Given the description of an element on the screen output the (x, y) to click on. 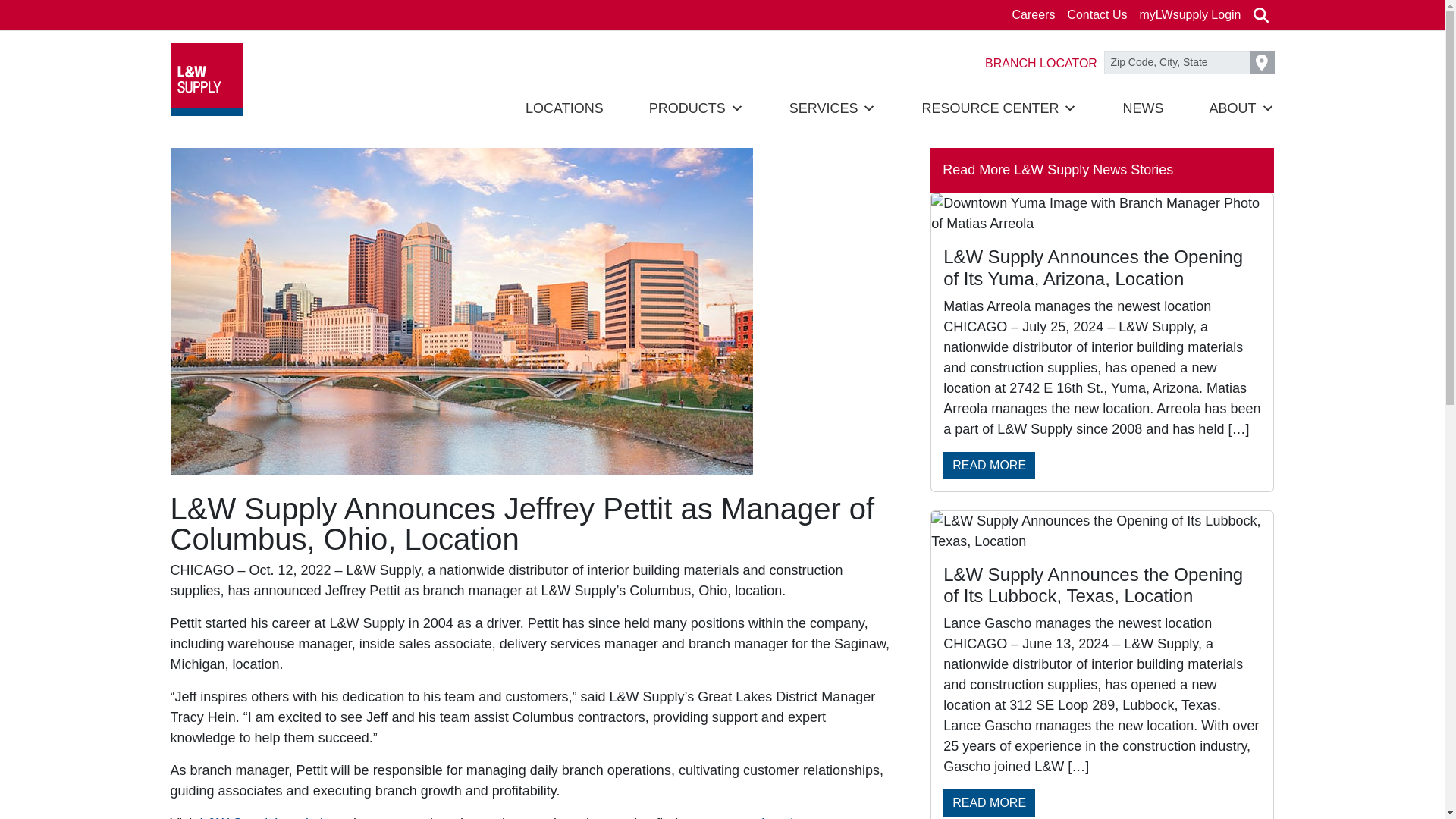
myLWsupply Login (1190, 15)
Search (1260, 15)
Contact Us (1096, 15)
Careers (1033, 15)
RESOURCE CENTER (999, 108)
PRODUCTS (696, 108)
NEWS (1142, 108)
LOCATIONS (564, 108)
SERVICES (832, 108)
ABOUT (1241, 108)
